Given the description of an element on the screen output the (x, y) to click on. 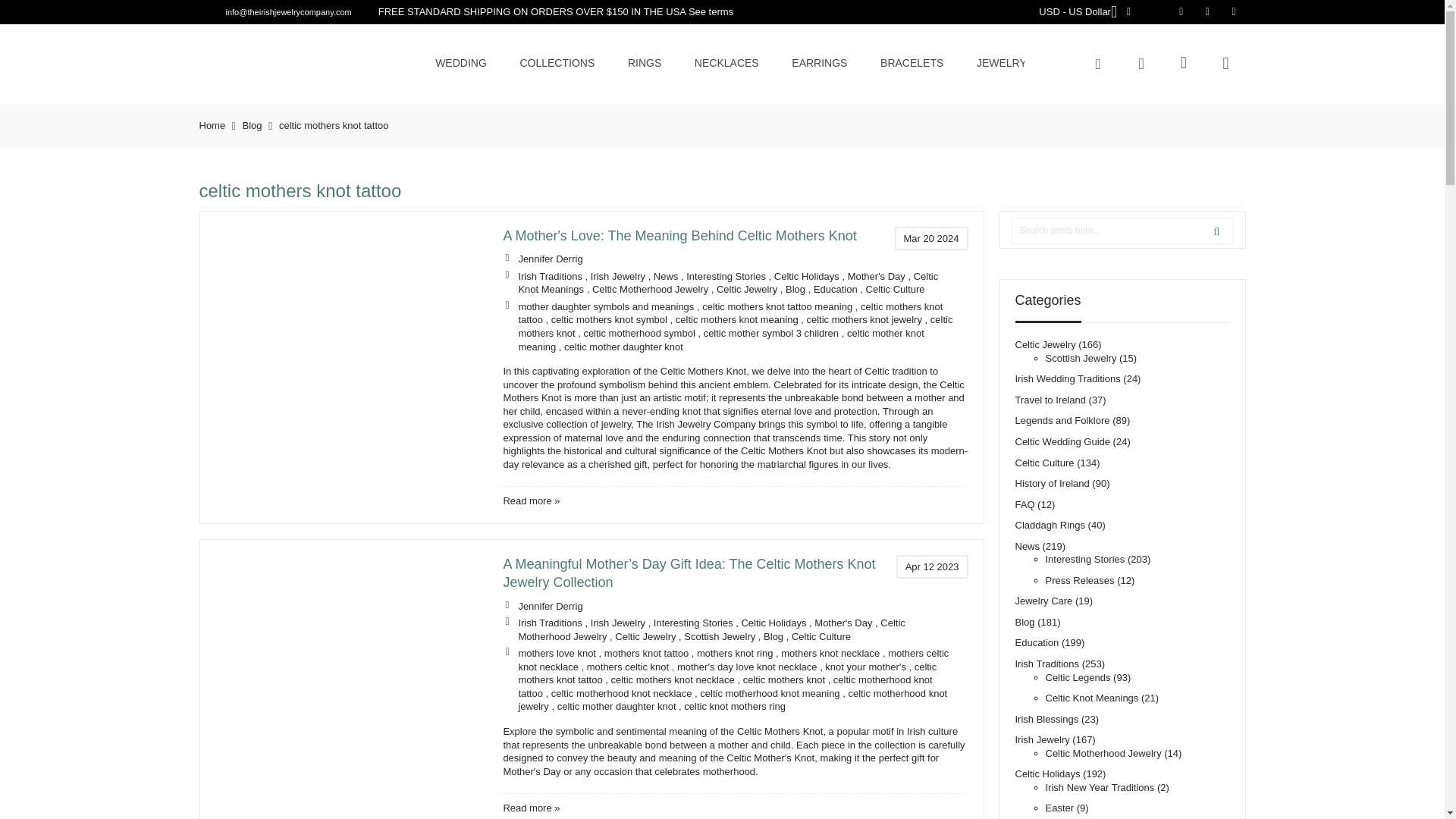
EARRINGS (818, 62)
SEARCH (1098, 63)
See terms (710, 11)
A Mother's Love: The Meaning Behind Celtic Mothers Knot  (351, 317)
Blog  (797, 288)
Celtic Holidays (807, 276)
NECKLACES (726, 62)
News (665, 276)
WEDDING (461, 62)
